Given the description of an element on the screen output the (x, y) to click on. 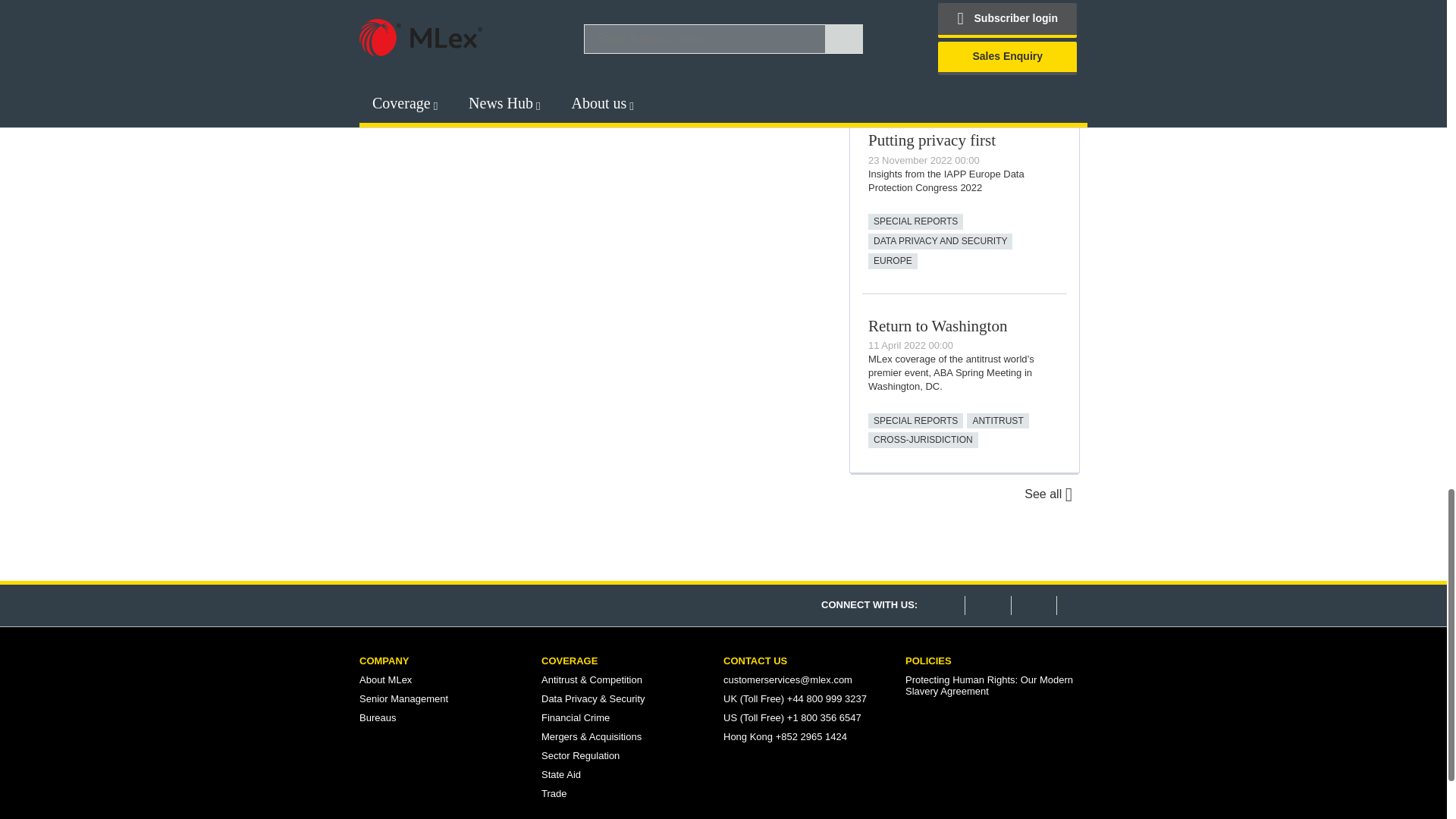
MLex Podcasts (962, 33)
Find us on Twitter (985, 605)
Find us on LinkedIn (1077, 605)
Find us on Facebook (940, 605)
Find us on Vimeo (1032, 605)
